Given the description of an element on the screen output the (x, y) to click on. 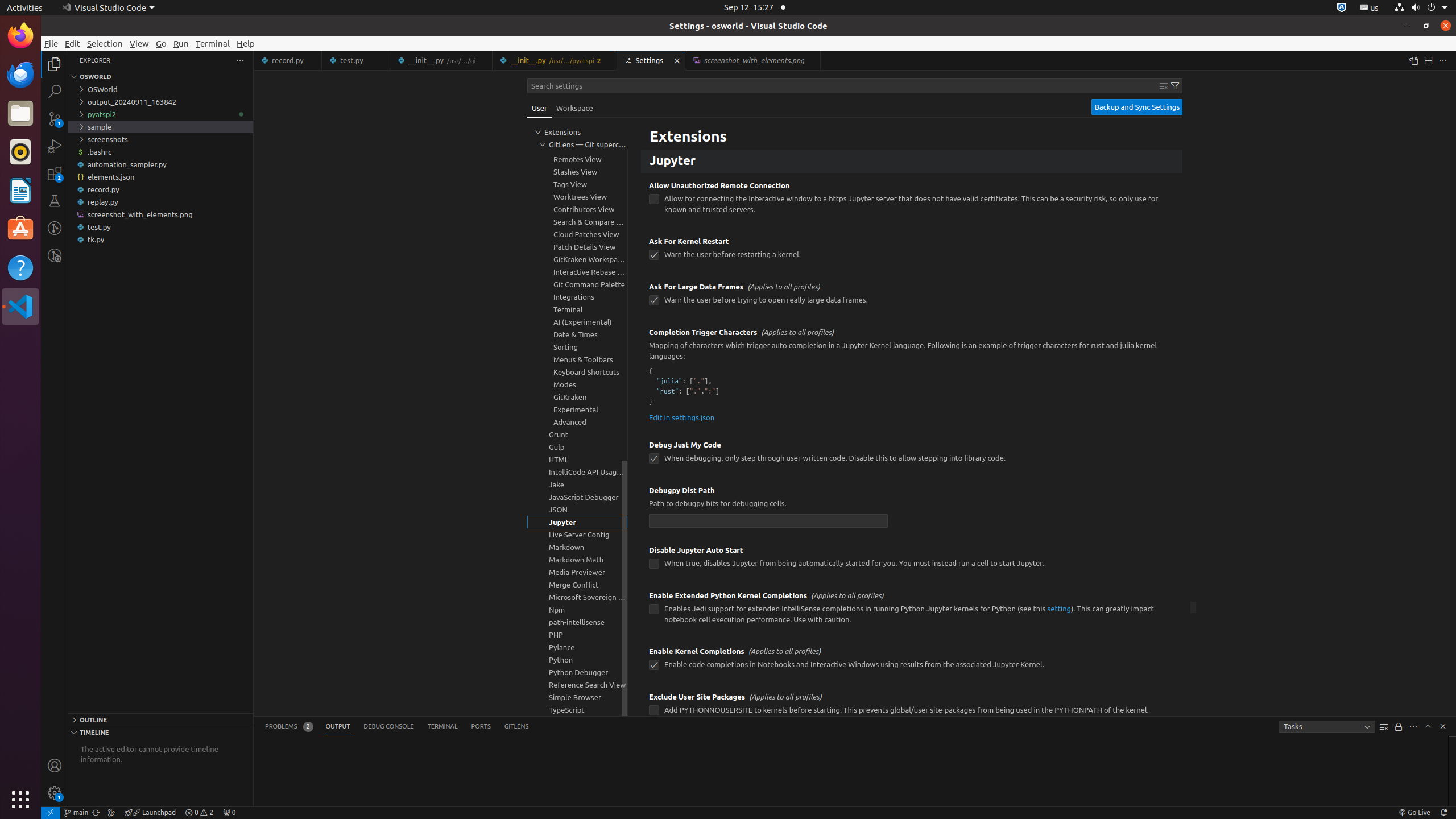
 Allow Unauthorized Remote Connection. Allow for connecting the Interactive window to a https Jupyter server that does not have valid certificates. This can be a security risk, so only use for known and trusted servers.  Element type: tree-item (911, 201)
Open Settings (JSON) Element type: push-button (1413, 60)
json.validate.enable Element type: check-box (653, 129)
Python, group Element type: tree-item (577, 659)
__init__.py Element type: page-tab (554, 60)
